Given the description of an element on the screen output the (x, y) to click on. 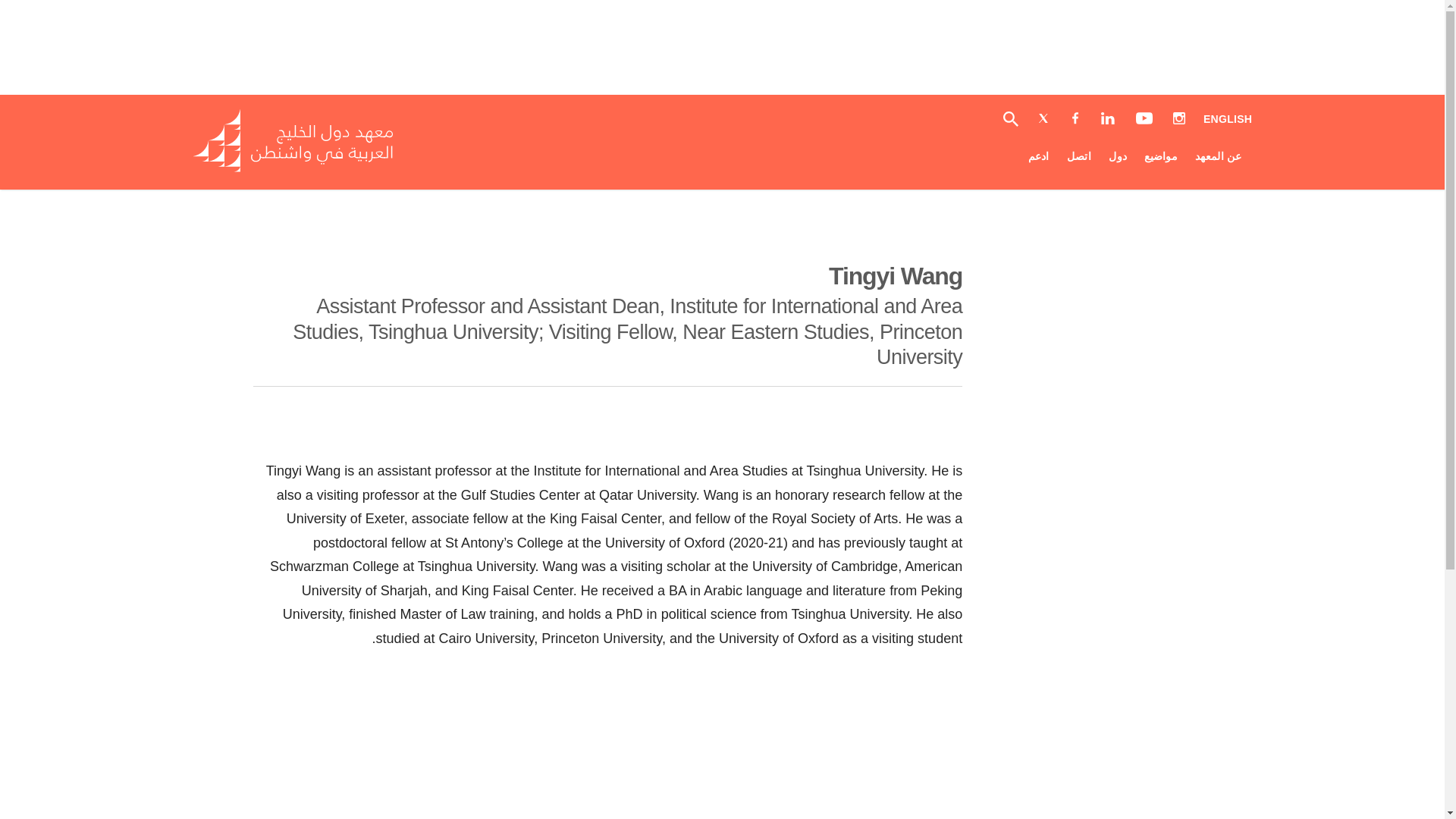
The Arab Gulf States Institute in Washington (1228, 119)
Search (307, 168)
